Given the description of an element on the screen output the (x, y) to click on. 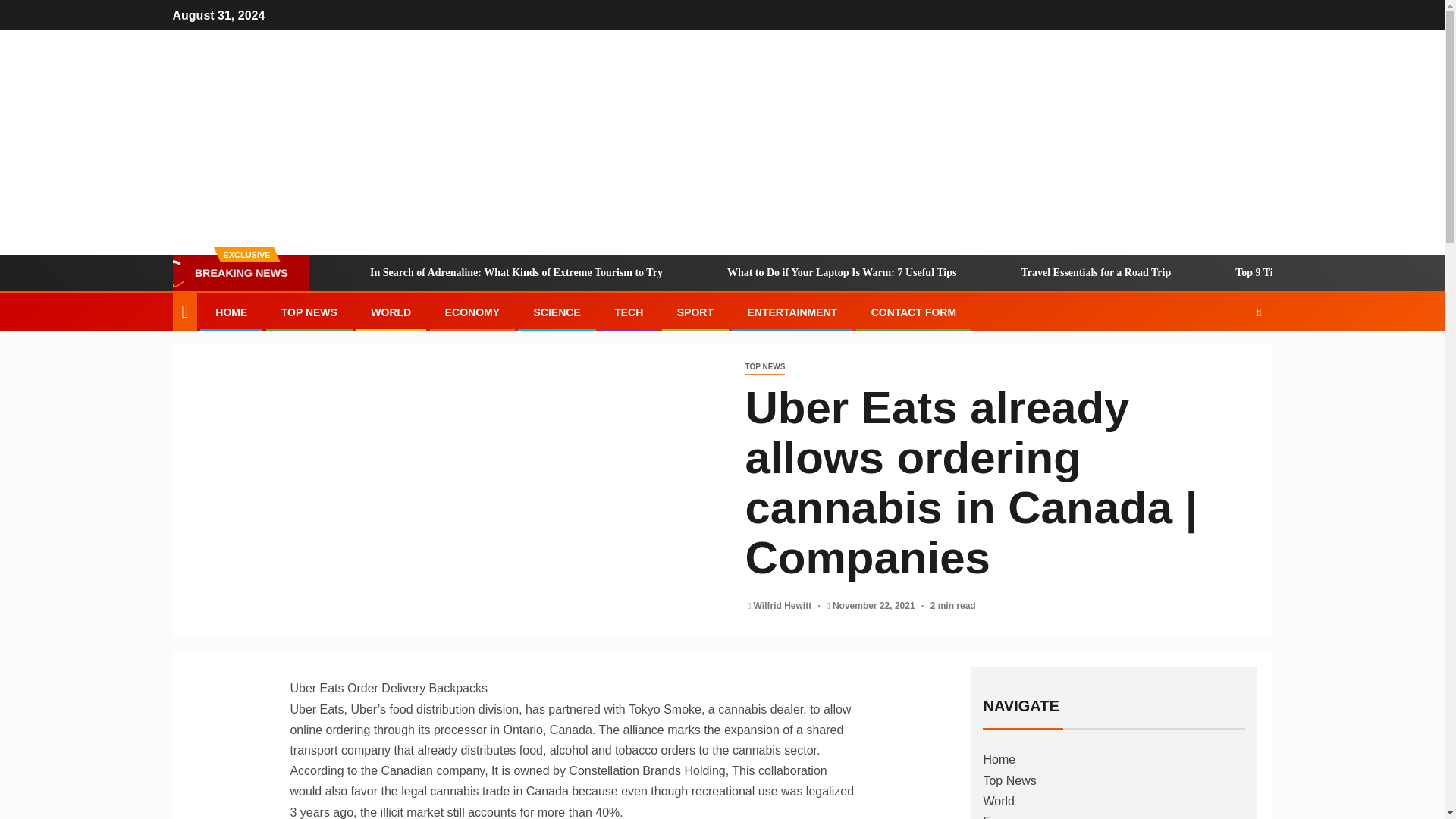
ECONOMY (472, 312)
ENTERTAINMENT (791, 312)
TOP NEWS (764, 367)
Search (1229, 358)
TOP NEWS (309, 312)
CONTACT FORM (913, 312)
SCIENCE (555, 312)
WORLD (390, 312)
Travel Essentials for a Road Trip (1075, 272)
